Given the description of an element on the screen output the (x, y) to click on. 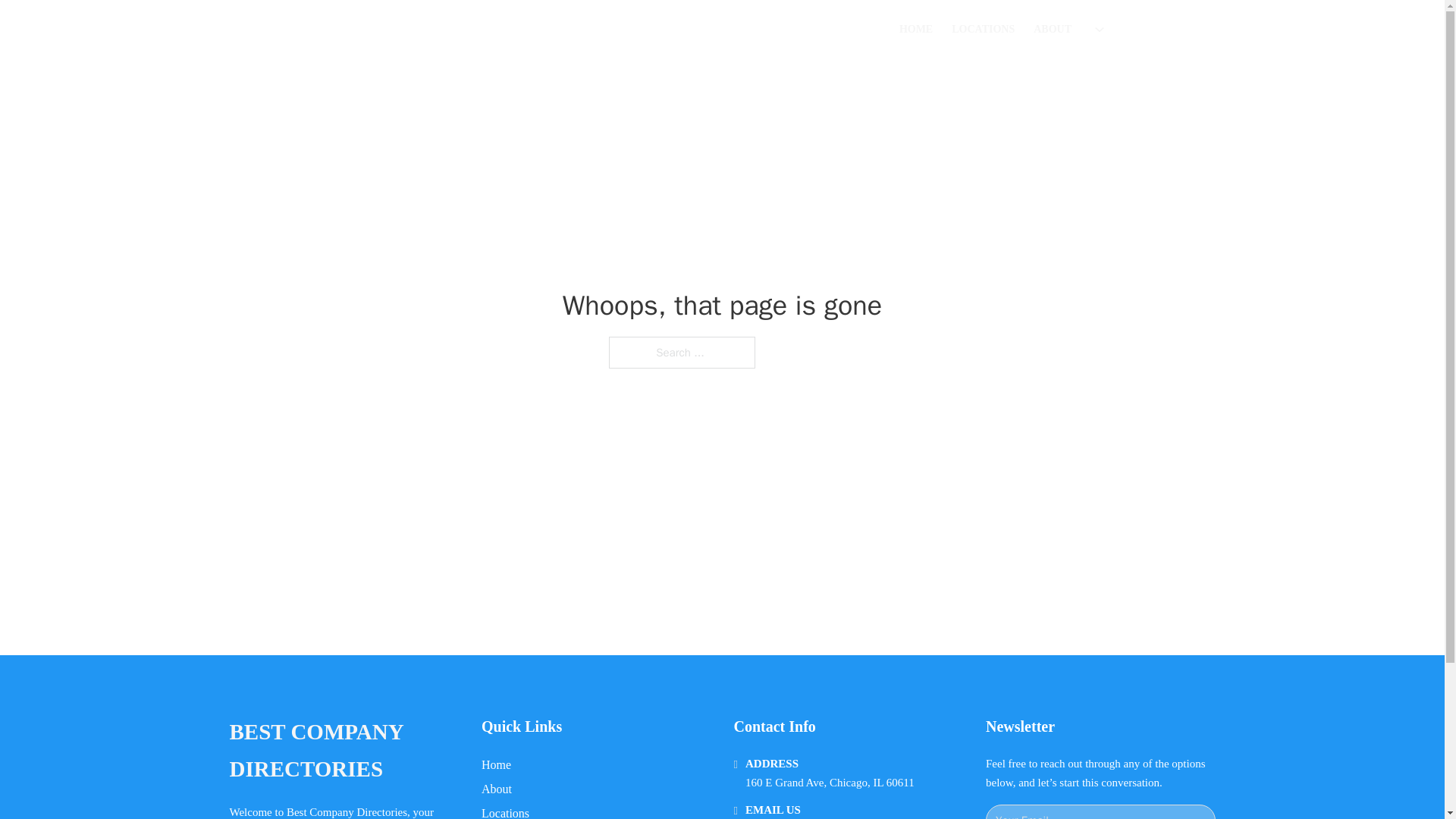
BEST COMPANY DIRECTORIES (343, 750)
Home (496, 764)
About (496, 788)
HOME (915, 29)
Locations (505, 811)
LOCATIONS (982, 29)
BEST COMPANY DIRECTORIES (455, 28)
